Given the description of an element on the screen output the (x, y) to click on. 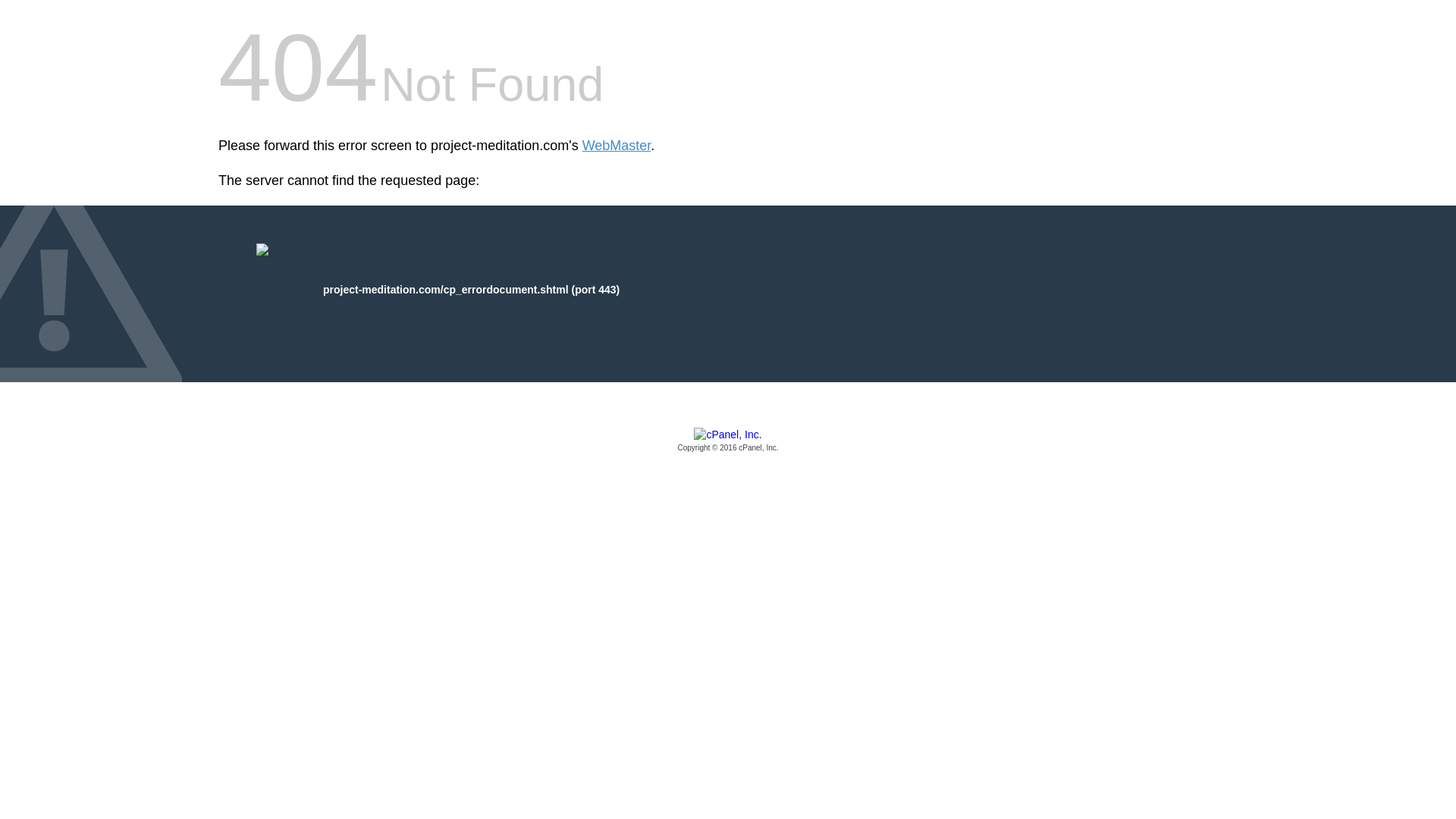
cPanel, Inc. (727, 440)
WebMaster (616, 145)
